Given the description of an element on the screen output the (x, y) to click on. 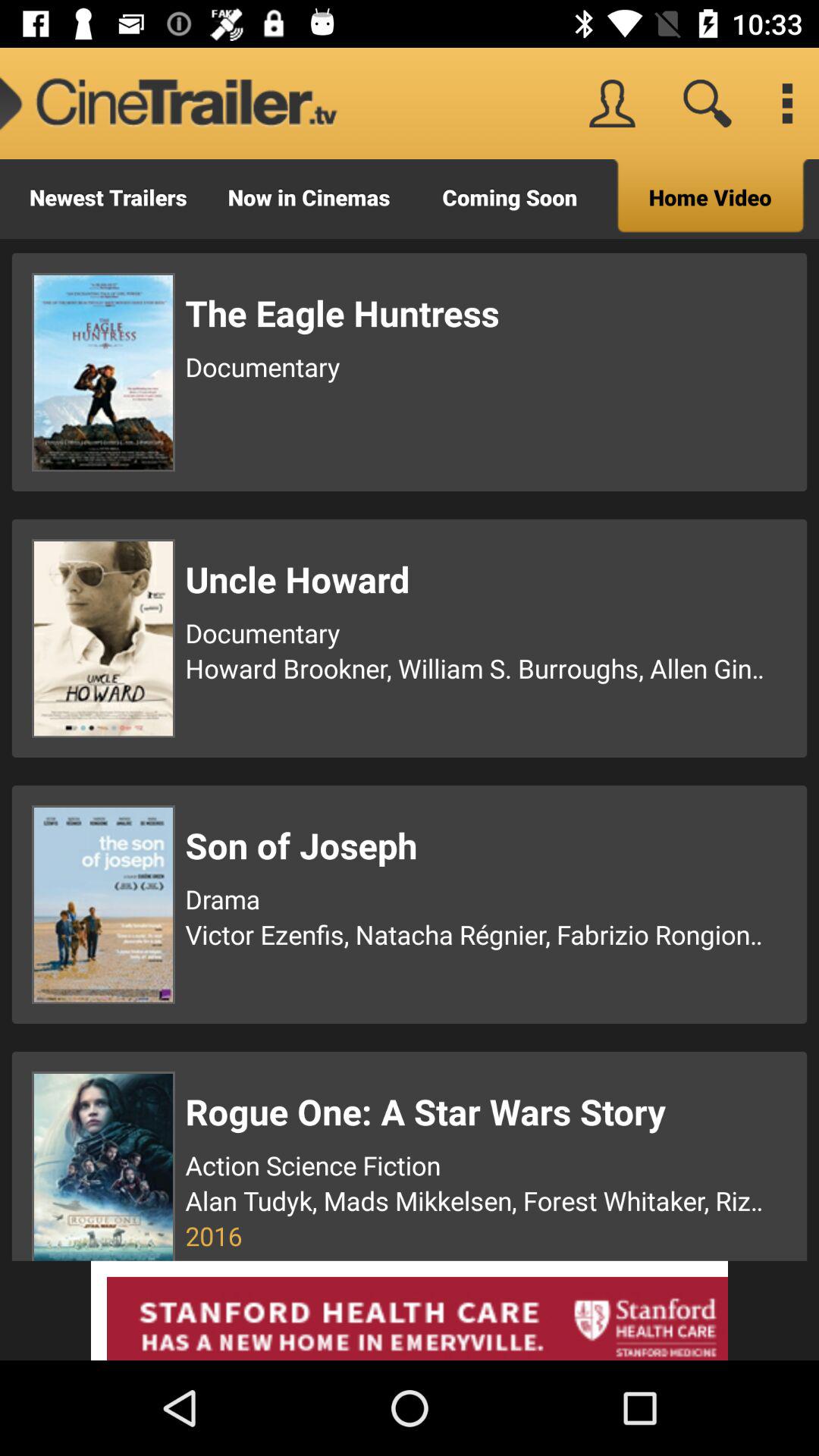
tap the now in cinemas (308, 198)
